Given the description of an element on the screen output the (x, y) to click on. 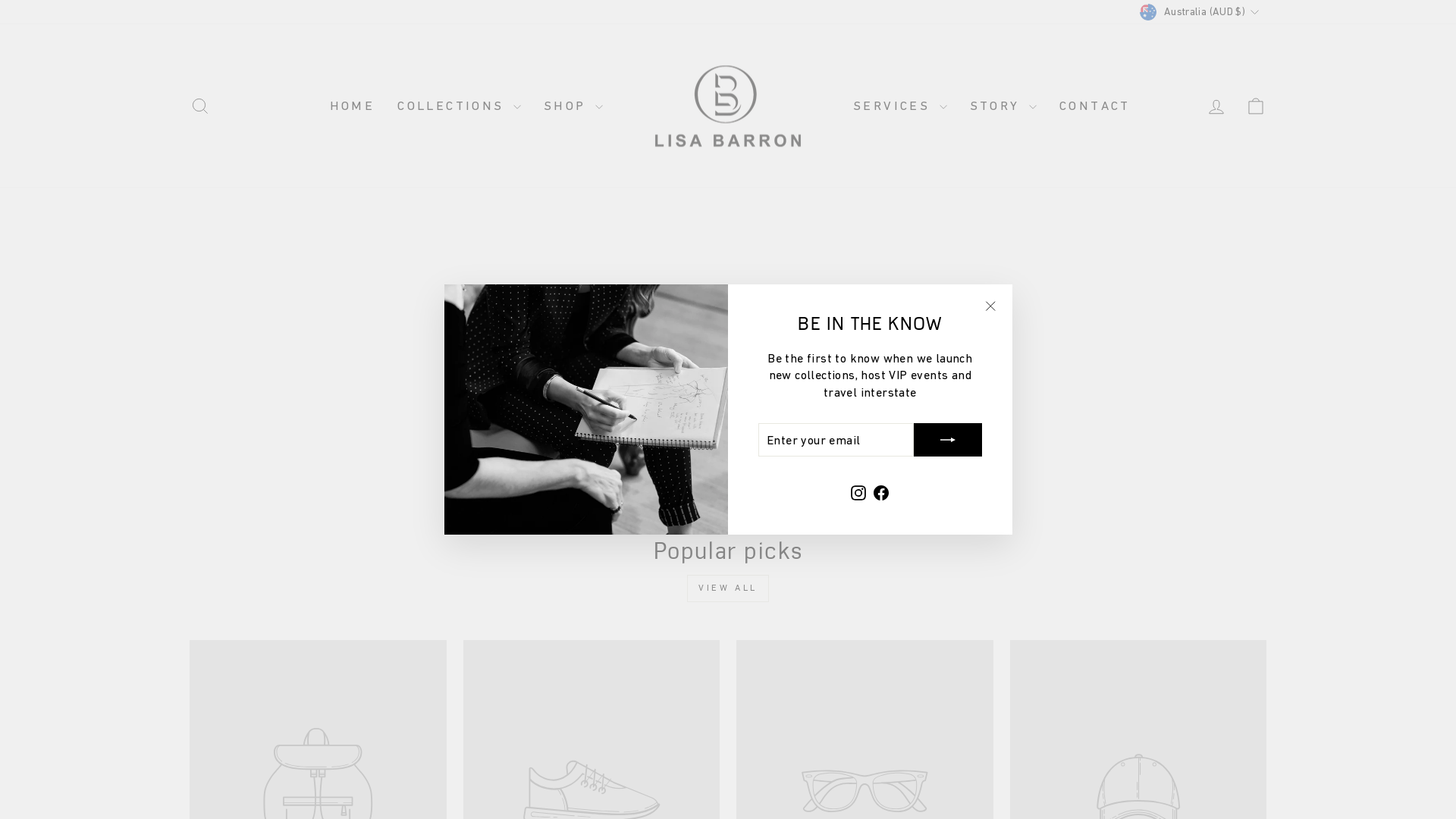
HOME Element type: text (352, 106)
VIEW ALL Element type: text (727, 587)
Facebook Element type: text (880, 491)
Australia (AUD $) Element type: text (1200, 12)
CONTACT Element type: text (1095, 106)
ICON-SEARCH
SEARCH Element type: text (199, 105)
icon-X
"Close (esc)" Element type: text (989, 305)
ACCOUNT
LOG IN Element type: text (1216, 105)
ICON-BAG-MINIMAL
CART Element type: text (1255, 105)
Instagram Element type: text (858, 491)
Continue shopping Element type: text (727, 376)
